Given the description of an element on the screen output the (x, y) to click on. 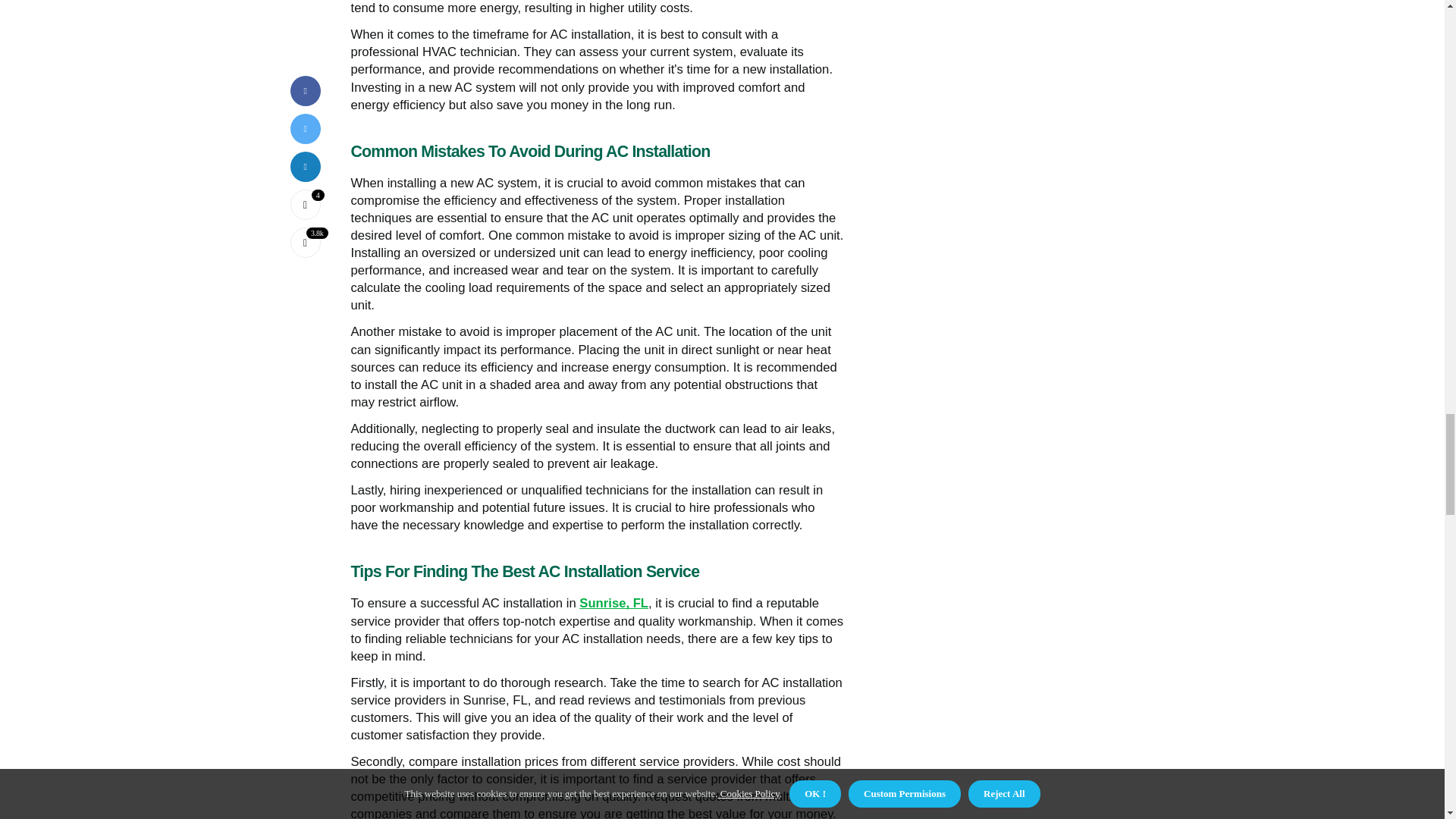
Sunrise, FL (613, 603)
